Given the description of an element on the screen output the (x, y) to click on. 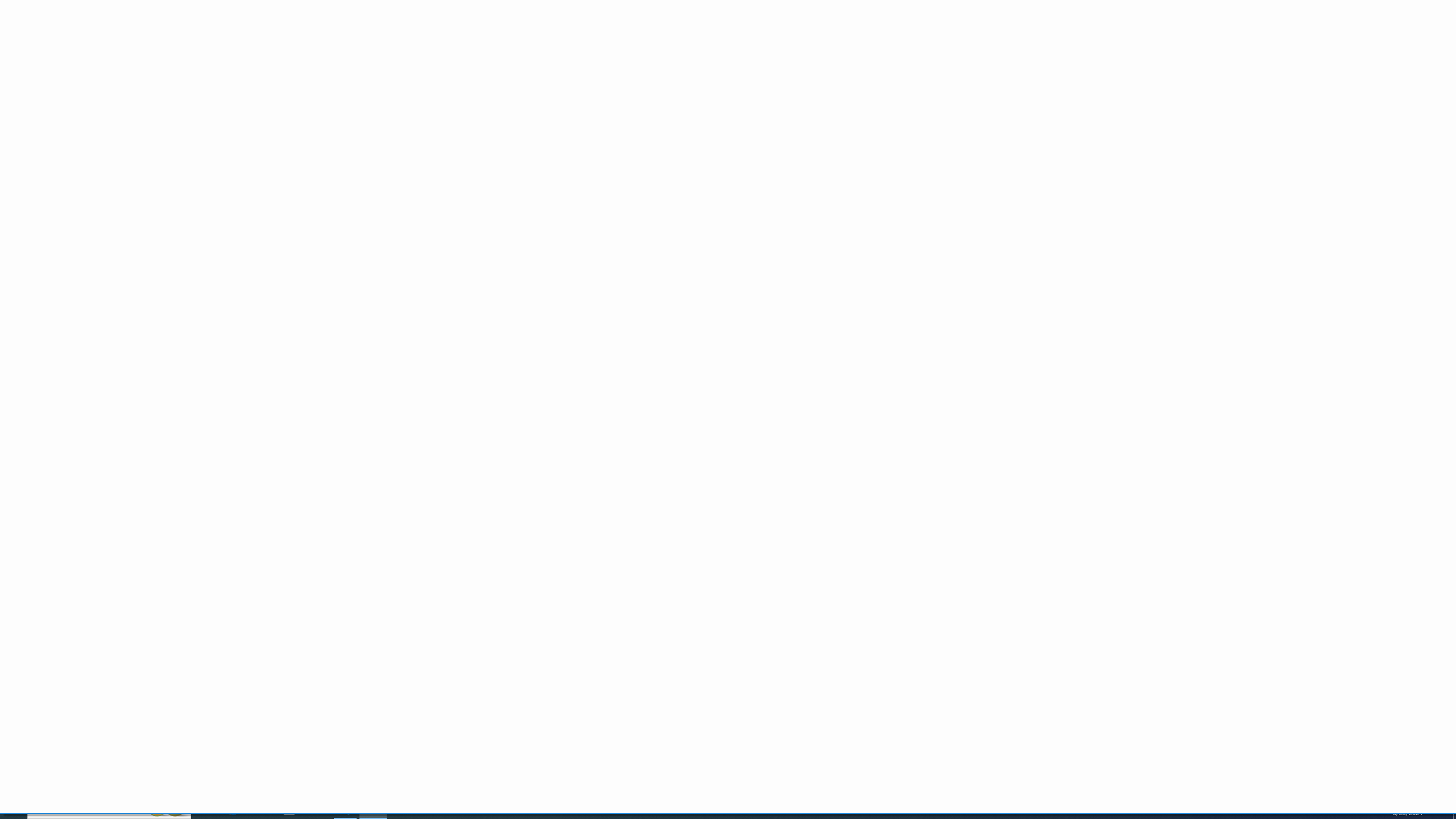
Find & Select (1075, 58)
Cut (42, 44)
Decrease Indent (307, 67)
Borders (162, 67)
Neutral (791, 49)
Conditional Formatting (525, 58)
AutoSum (1011, 44)
